Given the description of an element on the screen output the (x, y) to click on. 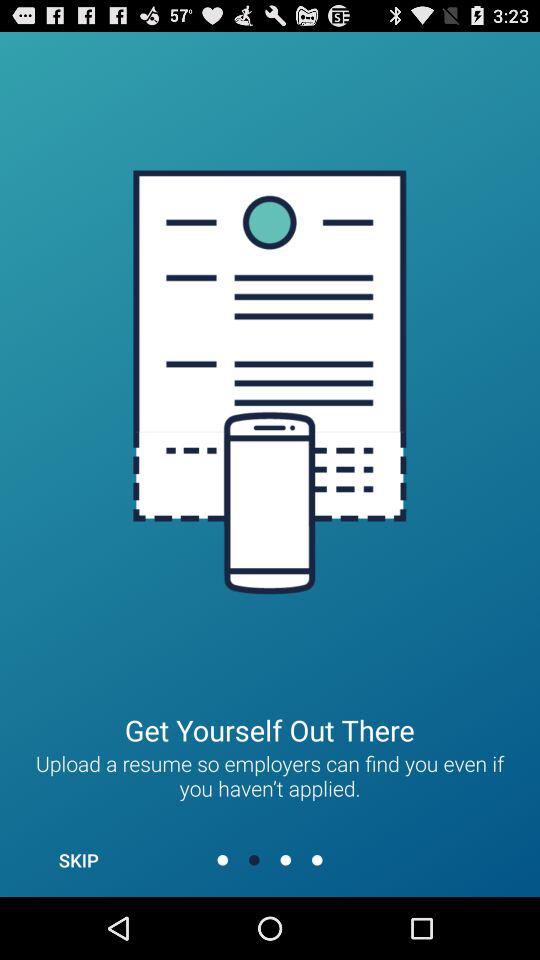
select the icon below the upload a resume icon (78, 859)
